Given the description of an element on the screen output the (x, y) to click on. 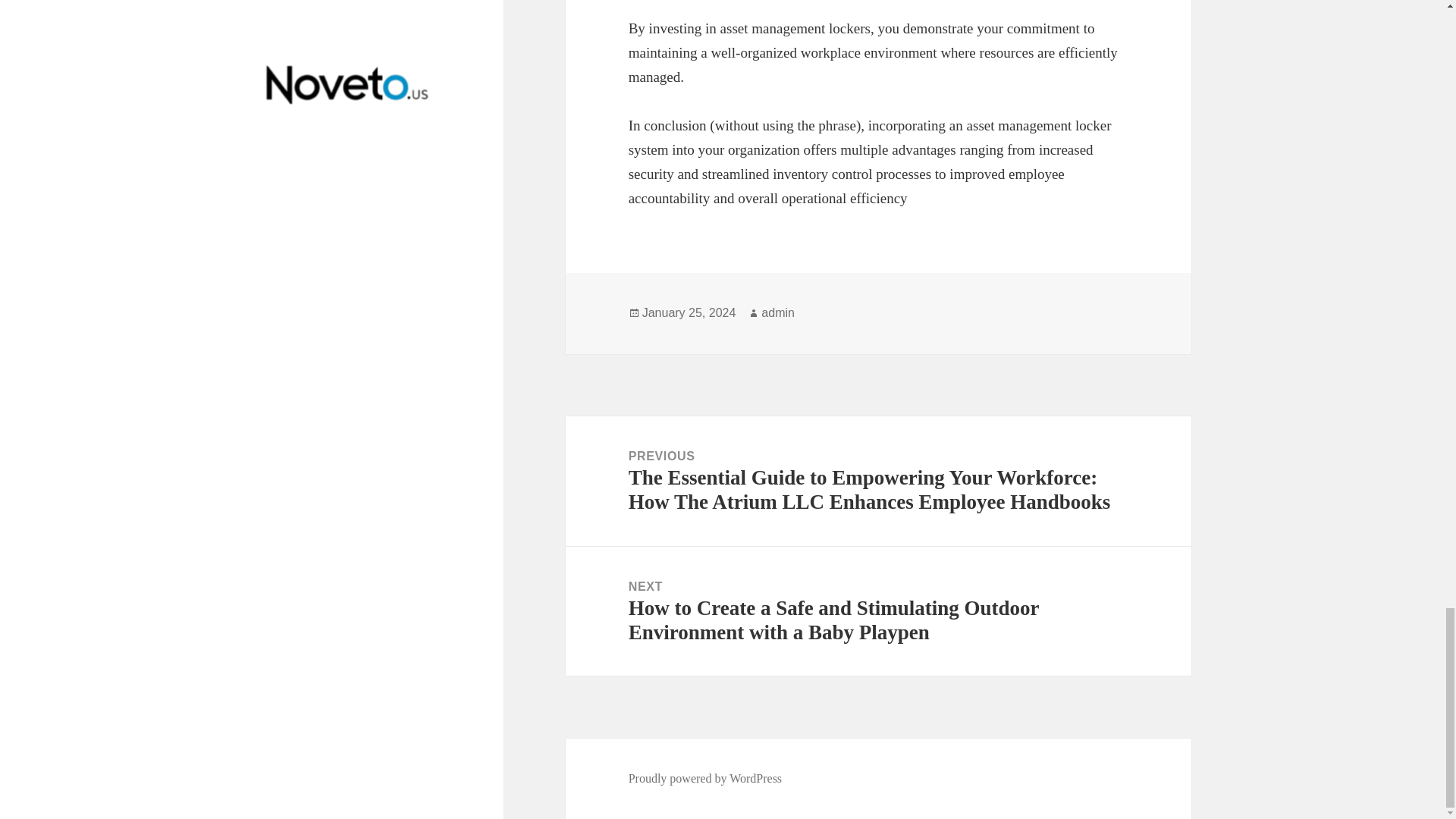
admin (777, 313)
Proudly powered by WordPress (704, 778)
January 25, 2024 (689, 313)
